Given the description of an element on the screen output the (x, y) to click on. 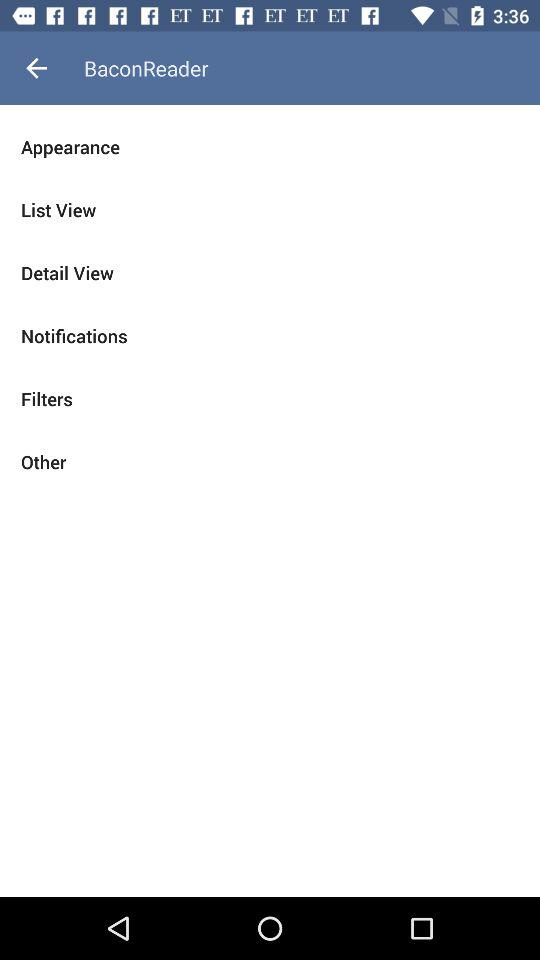
press the icon above appearance (36, 68)
